Given the description of an element on the screen output the (x, y) to click on. 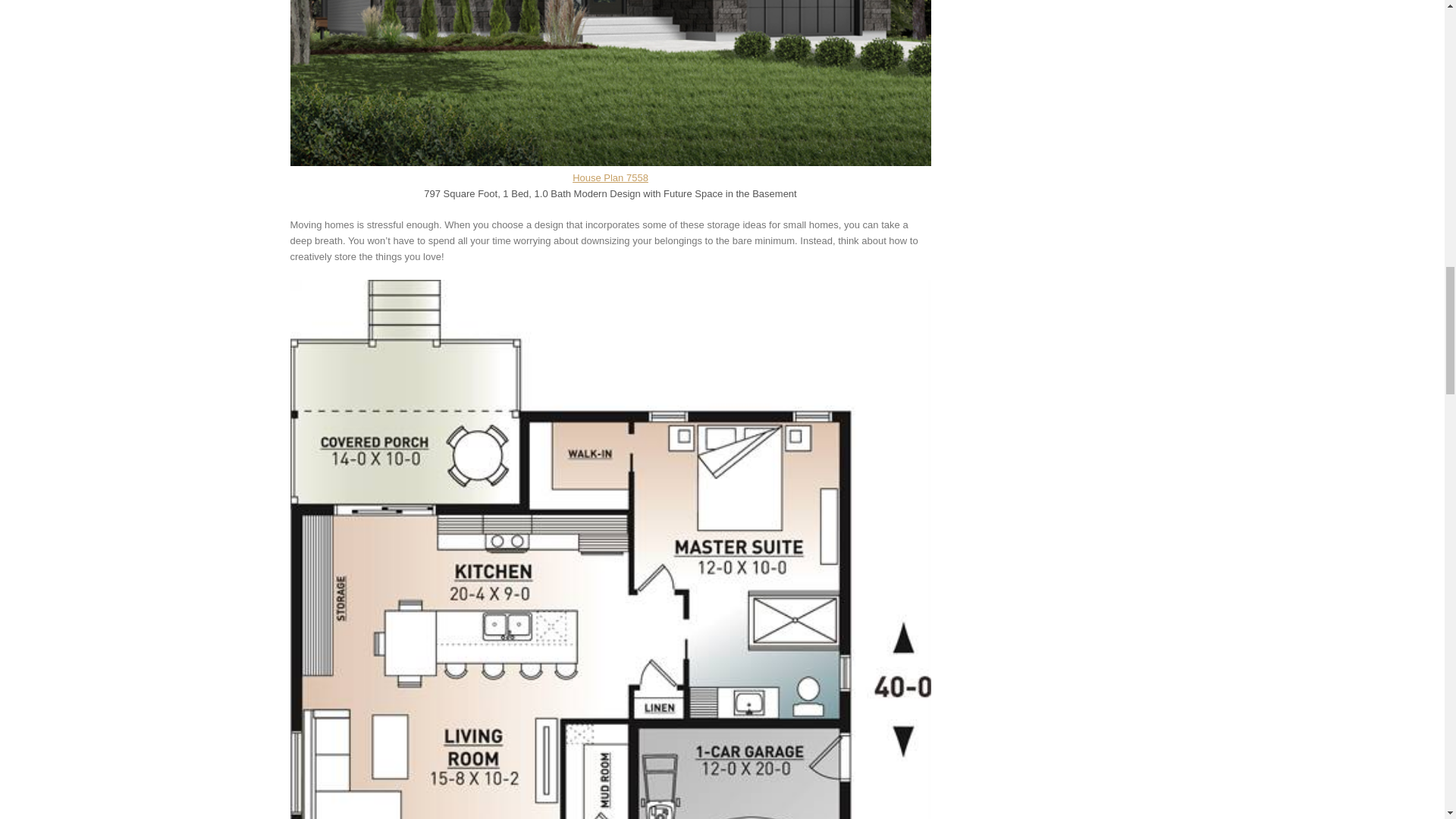
House Plan 7558 (609, 177)
